Given the description of an element on the screen output the (x, y) to click on. 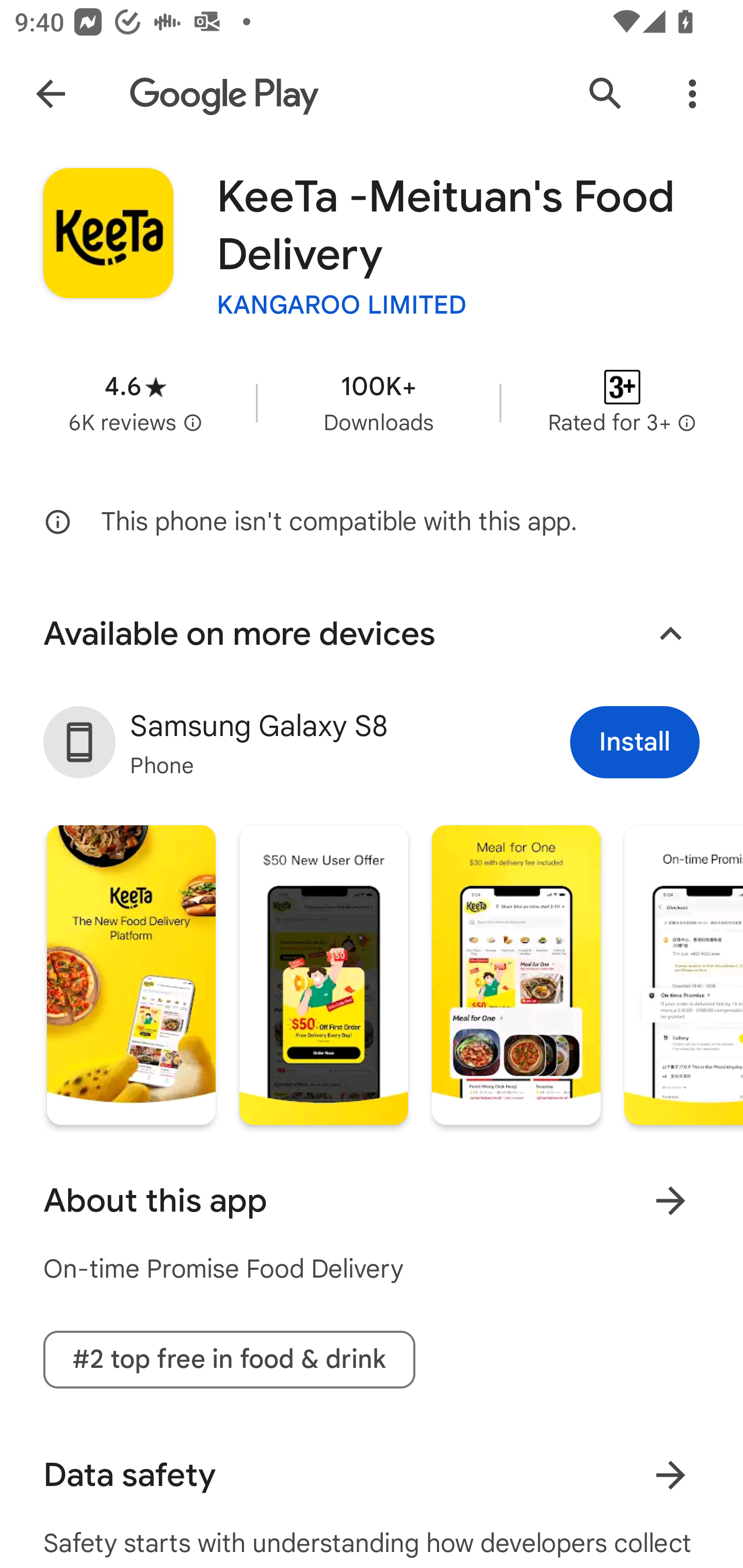
Navigate up (50, 93)
Search Google Play (605, 93)
More Options (692, 93)
KANGAROO LIMITED (341, 304)
Average rating 4.6 stars in 6 thousand reviews (135, 402)
Content rating Rated for 3+ (622, 402)
Available on more devices Collapse (371, 634)
Collapse (670, 634)
Install (634, 742)
Screenshot "1" of "6" (130, 974)
Screenshot "2" of "6" (323, 974)
Screenshot "3" of "6" (515, 974)
Screenshot "4" of "6" (683, 974)
About this app Learn more About this app (371, 1200)
Learn more About this app (670, 1200)
#2 top free in food & drink tag (229, 1359)
Data safety Learn more about data safety (371, 1475)
Learn more about data safety (670, 1474)
